Given the description of an element on the screen output the (x, y) to click on. 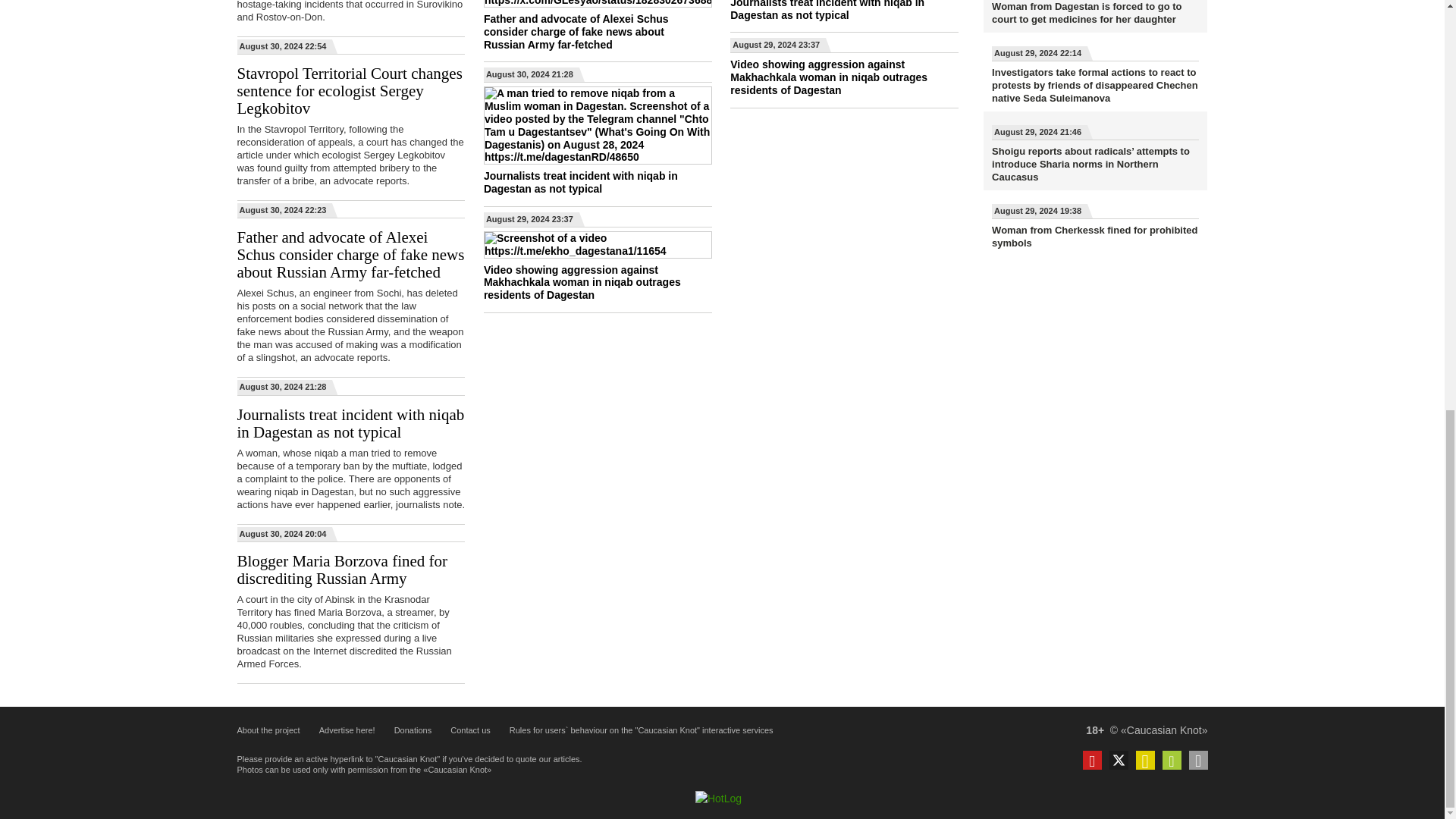
Twitter (1117, 760)
YouTube (1092, 760)
RSS (1144, 760)
Install iOS application (1198, 760)
Install Android application (1170, 760)
